Given the description of an element on the screen output the (x, y) to click on. 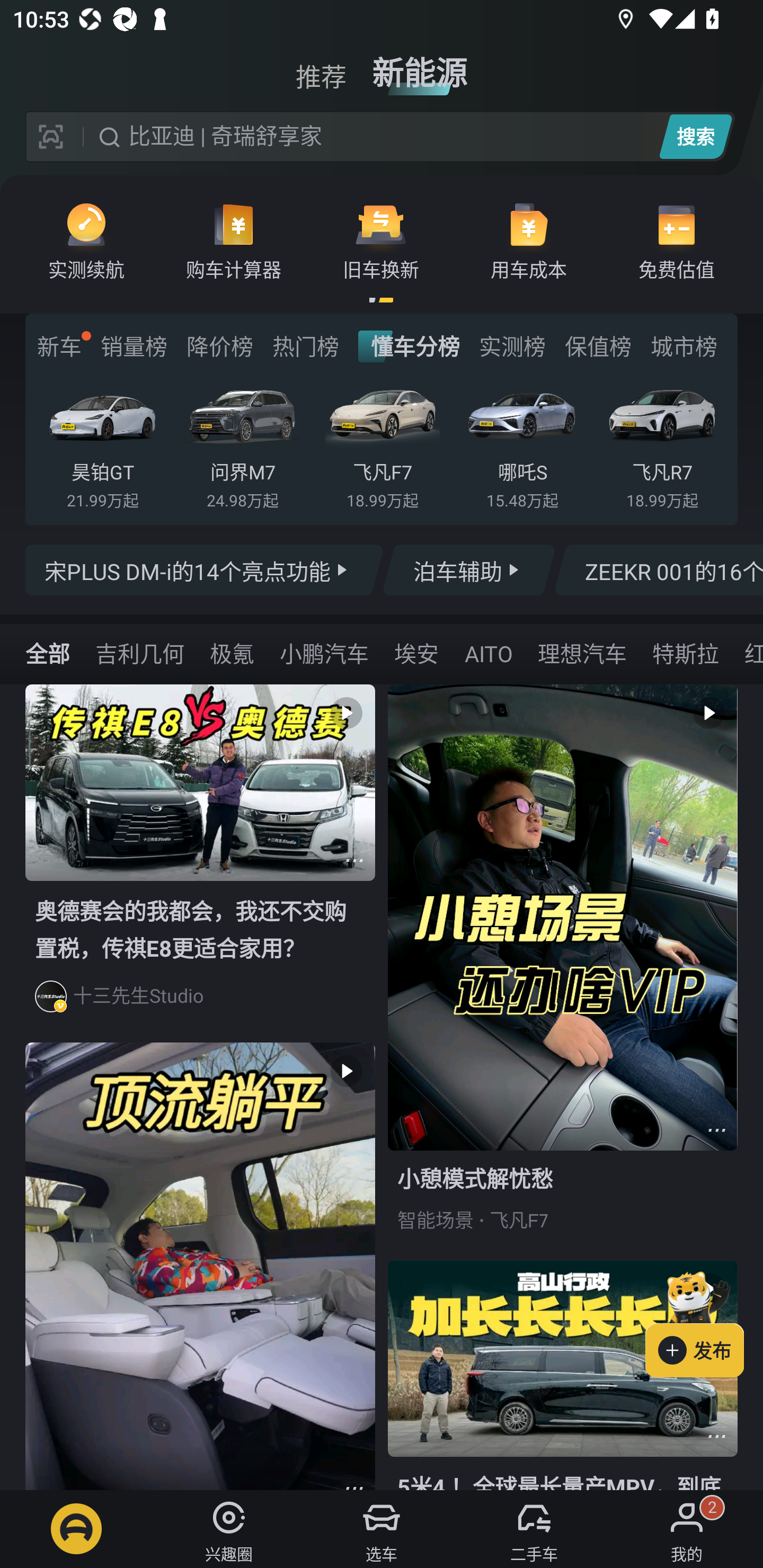
推荐 (321, 65)
新能源 (419, 65)
搜索 (695, 136)
实测续航 (86, 240)
购车计算器 (233, 240)
旧车换新 (380, 240)
用车成本 (528, 240)
免费估值 (676, 240)
新车 (59, 346)
销量榜 (133, 346)
降价榜 (219, 346)
热门榜 (305, 346)
懂车分榜 (408, 346)
实测榜 (512, 346)
保值榜 (597, 346)
城市榜 (683, 346)
昊铂GT 21.99万起 (102, 442)
问界M7 24.98万起 (242, 442)
飞凡F7 18.99万起 (382, 442)
哪吒S 15.48万起 (522, 442)
飞凡R7 18.99万起 (662, 442)
宋PLUS DM-i的14个亮点功能 (204, 569)
泊车辅助 (468, 569)
ZEEKR 001的16个亮点功能 (658, 569)
全部 (47, 652)
吉利几何 (139, 652)
极氪 (231, 652)
小鹏汽车 (324, 652)
埃安 (416, 652)
AITO (487, 652)
理想汽车 (581, 652)
特斯拉 (685, 652)
  奥德赛会的我都会，我还不交购置税，传祺E8更适合家用？ 十三先生Studio (200, 862)
  小憩模式解忧愁 智能场景 飞凡F7 (562, 971)
 (354, 860)
  (200, 1265)
 (716, 1130)
飞凡F7 (518, 1220)
  5米4 ！全球最长量产MPV，到底好不好开？ (562, 1374)
发布 (704, 1320)
 (716, 1436)
 兴趣圈 (228, 1528)
 选车 (381, 1528)
 二手车 (533, 1528)
 我的 (686, 1528)
